Given the description of an element on the screen output the (x, y) to click on. 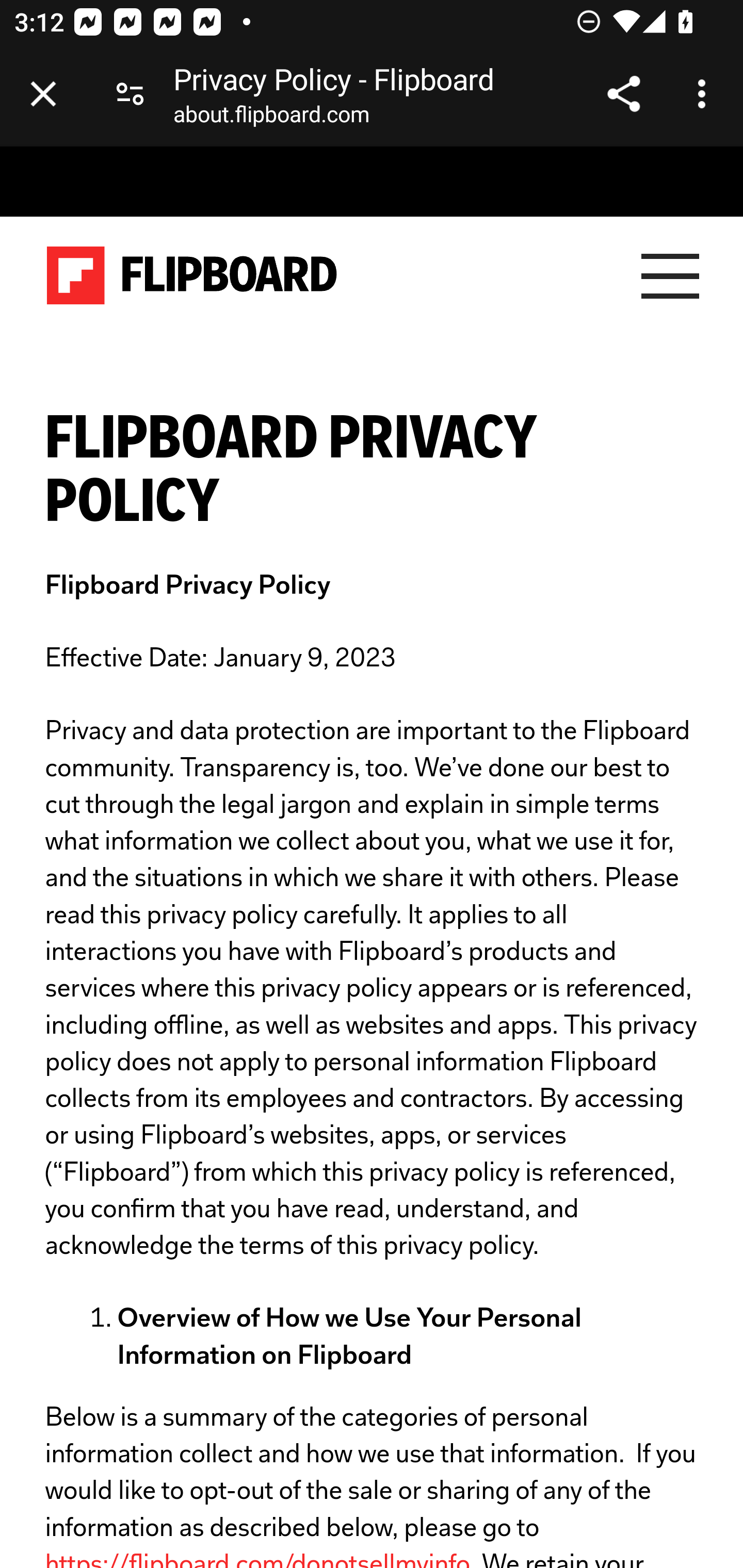
Close tab (43, 93)
Share link address (623, 93)
Customize and control Google Chrome (705, 93)
Connection is secure (129, 93)
about.flipboard.com (271, 117)
Flipboard Logo (192, 276)
